Given the description of an element on the screen output the (x, y) to click on. 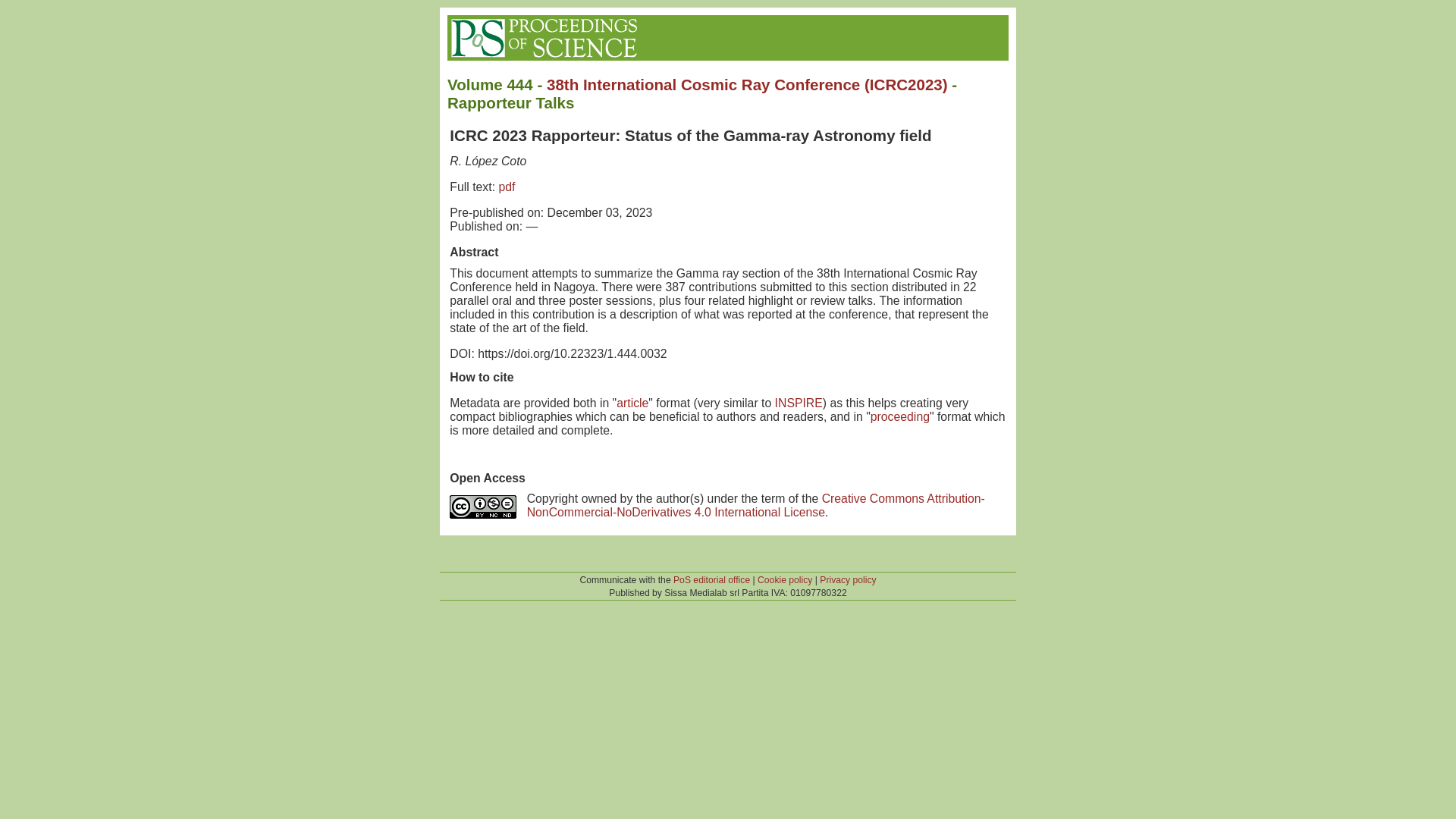
Cookie policy (784, 579)
Privacy policy (847, 579)
pdf (506, 186)
article (631, 402)
PoS editorial office (710, 579)
proceeding (900, 416)
INSPIRE (798, 402)
Privacy policy (847, 579)
Cookie policy (784, 579)
